Given the description of an element on the screen output the (x, y) to click on. 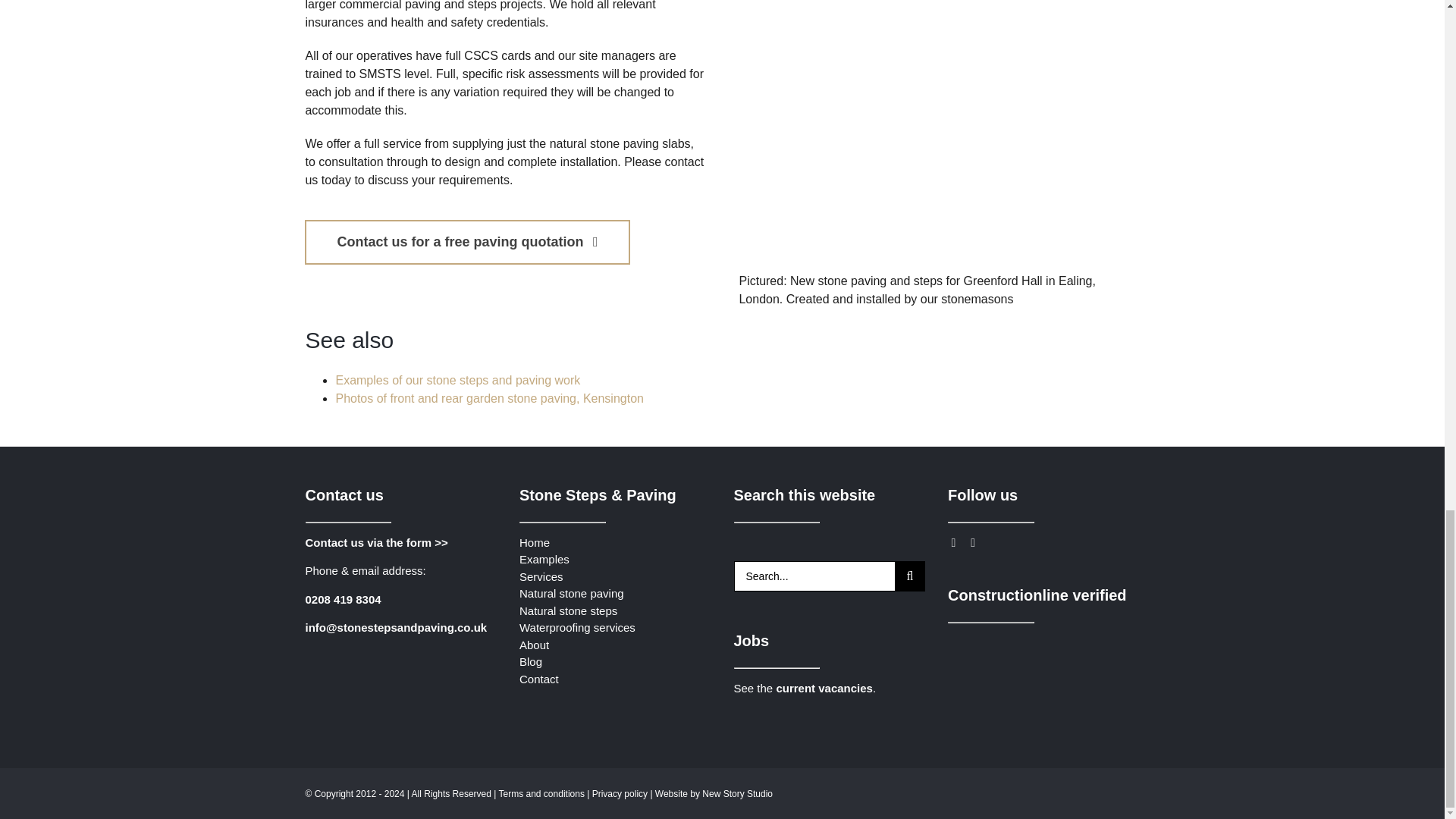
0208 419 8304 (342, 598)
Services (541, 575)
Blog (530, 661)
Contact (539, 678)
Contact us for a free paving quotation (466, 241)
Photos of front and rear garden stone paving, Kensington (488, 398)
Natural stone paving (571, 593)
Home (534, 542)
About (533, 644)
Examples of our stone steps and paving work (456, 379)
Natural stone steps (568, 610)
Examples (544, 558)
Office stone paving (938, 136)
Waterproofing services (576, 626)
